Given the description of an element on the screen output the (x, y) to click on. 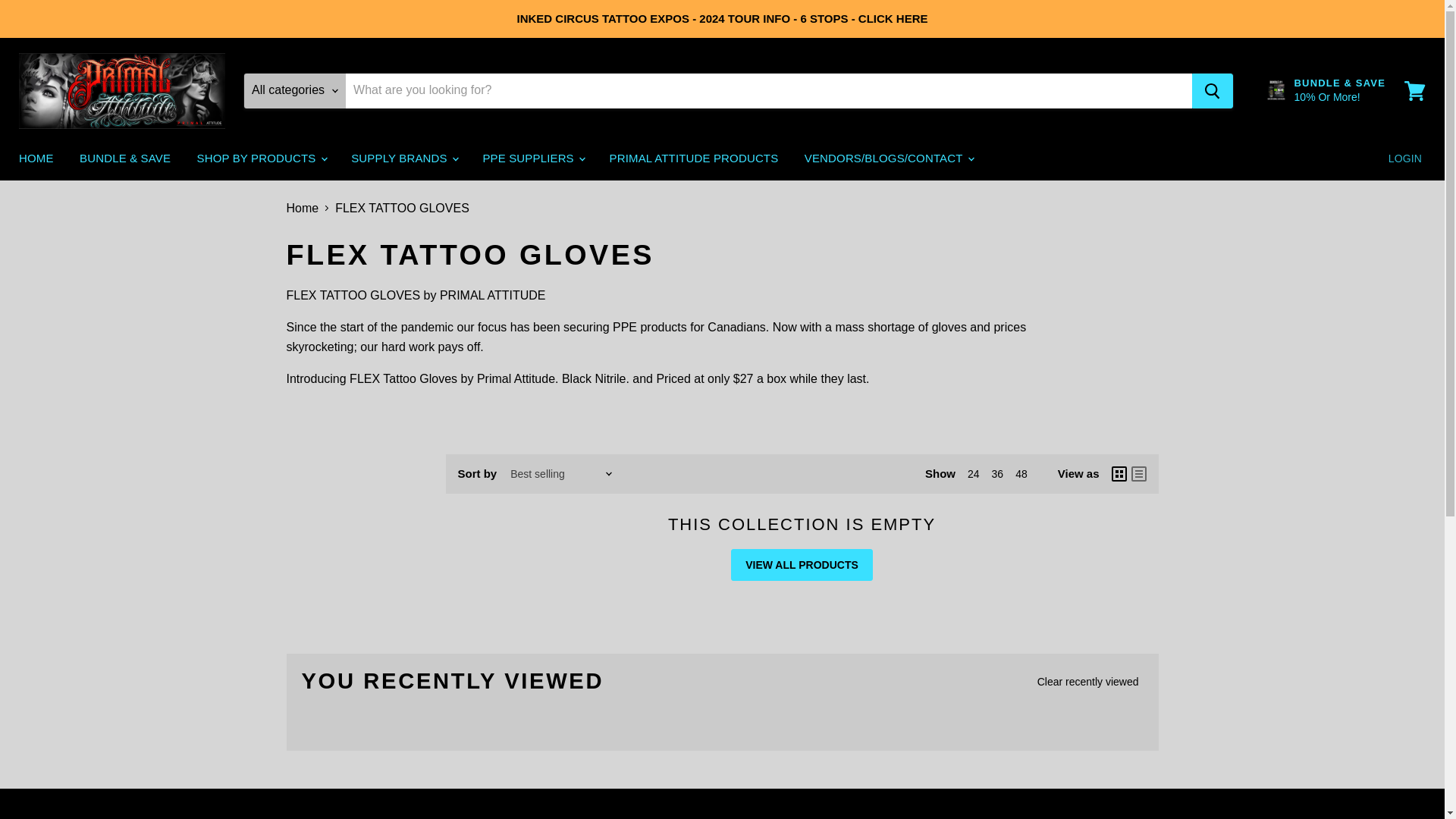
View cart (1414, 89)
SHOP BY PRODUCTS (261, 158)
HOME (36, 158)
